Given the description of an element on the screen output the (x, y) to click on. 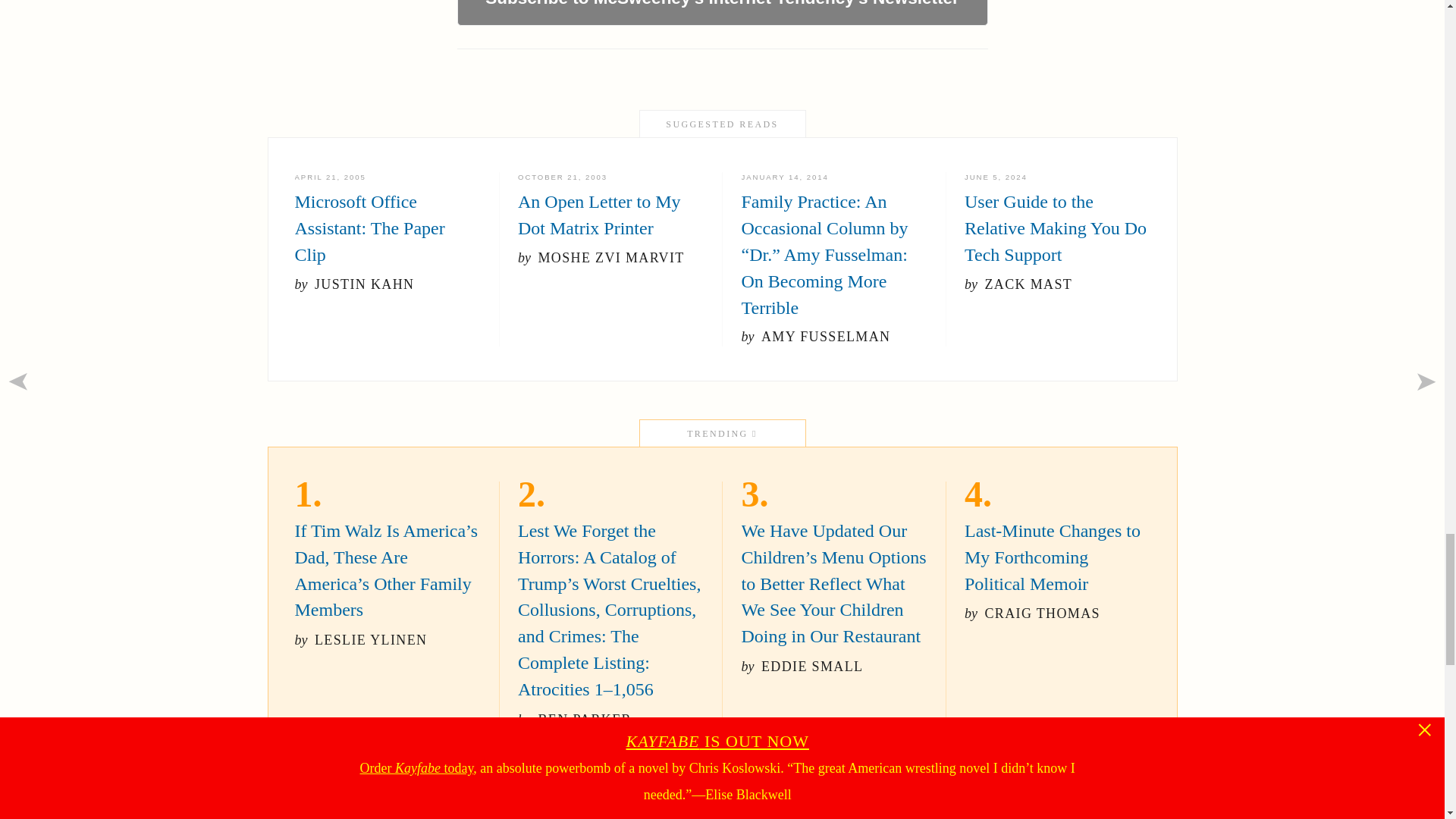
Last-Minute Changes to My Forthcoming Political Memoir (610, 206)
